Given the description of an element on the screen output the (x, y) to click on. 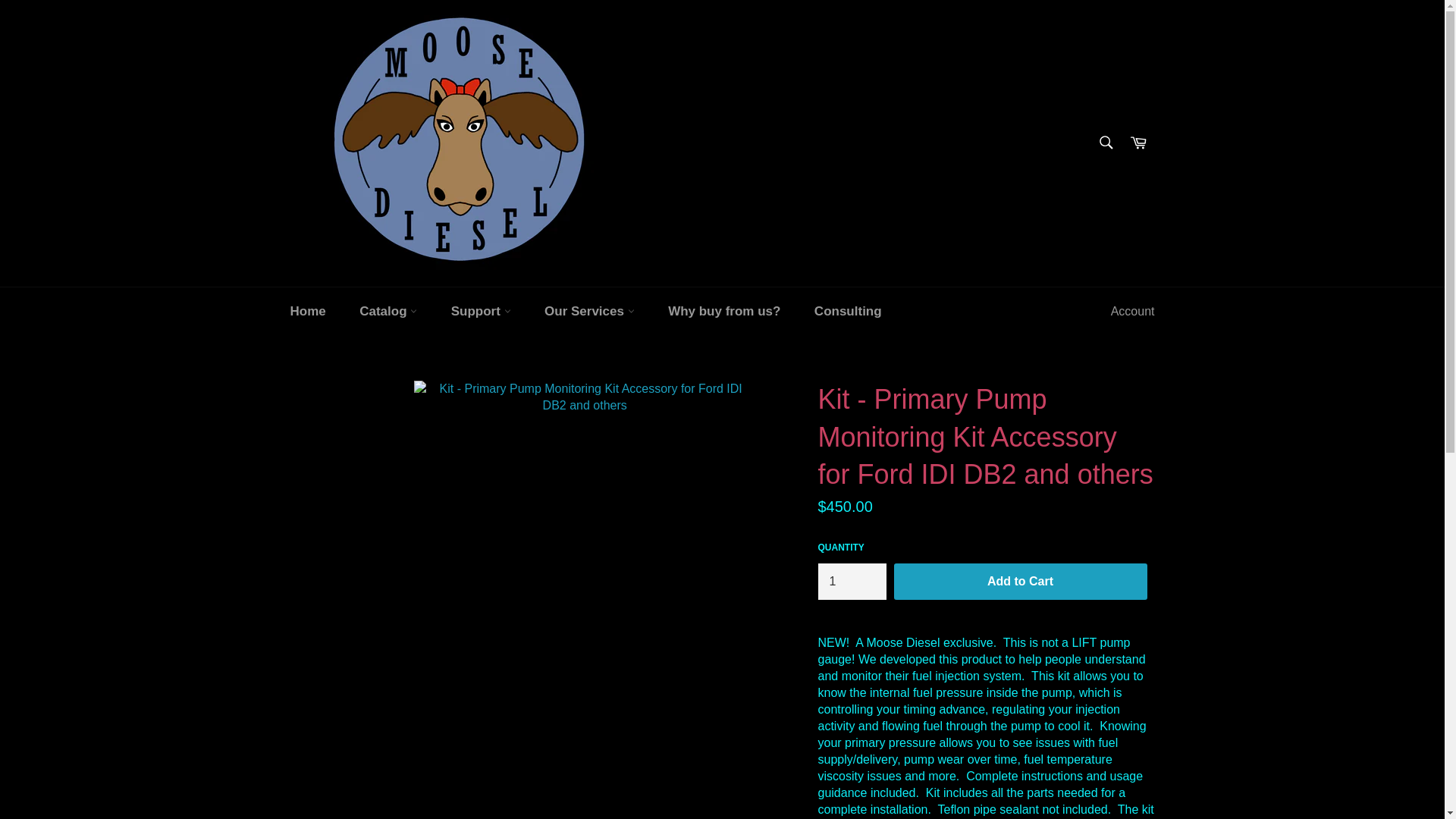
1 (850, 581)
